Given the description of an element on the screen output the (x, y) to click on. 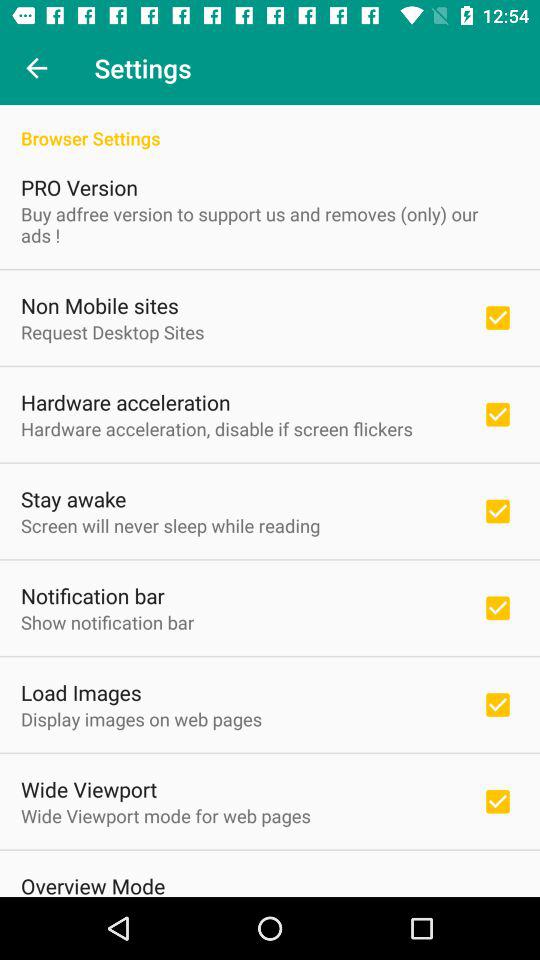
turn on pro version item (79, 187)
